Given the description of an element on the screen output the (x, y) to click on. 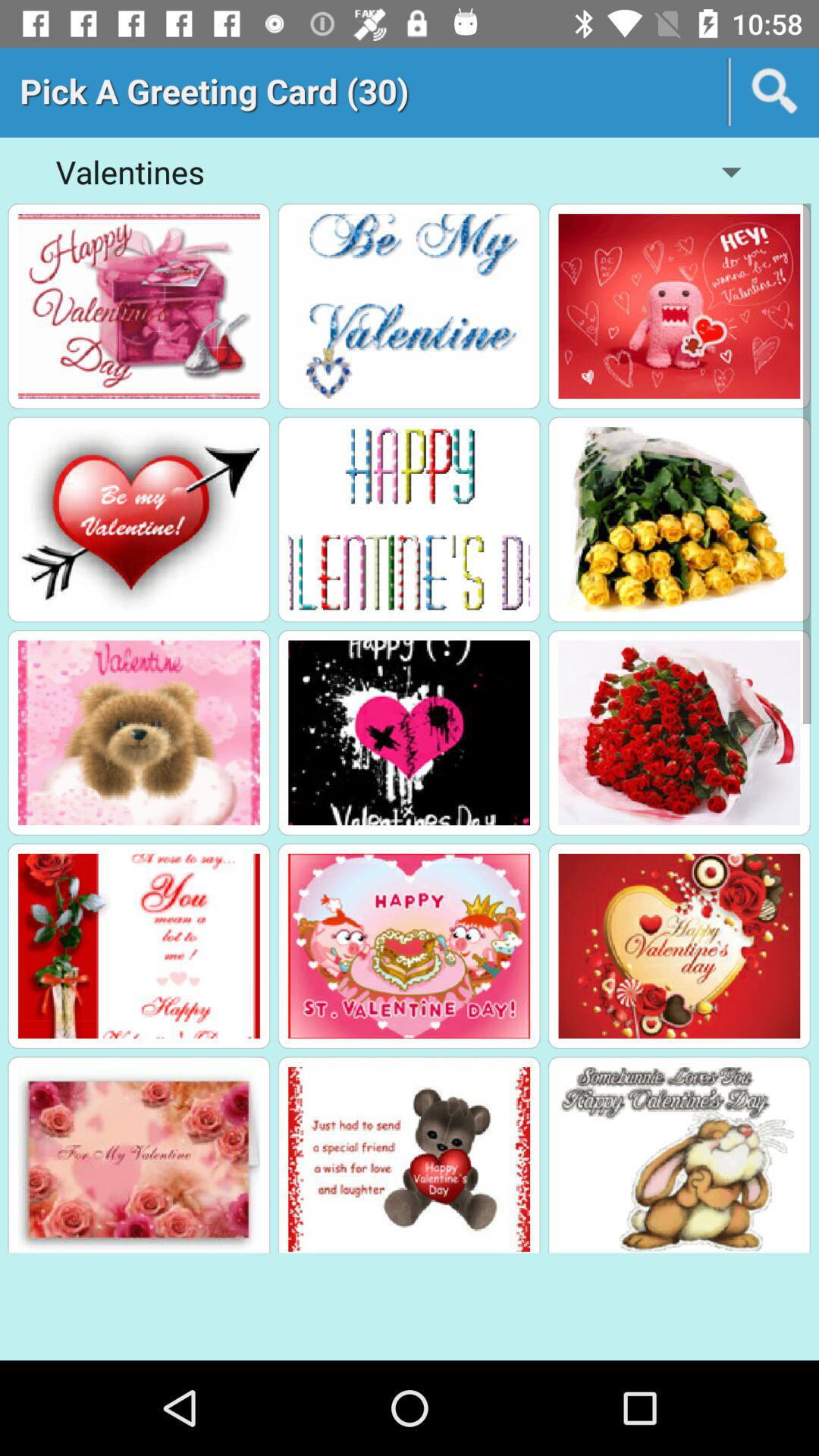
greeting card model (138, 519)
